Given the description of an element on the screen output the (x, y) to click on. 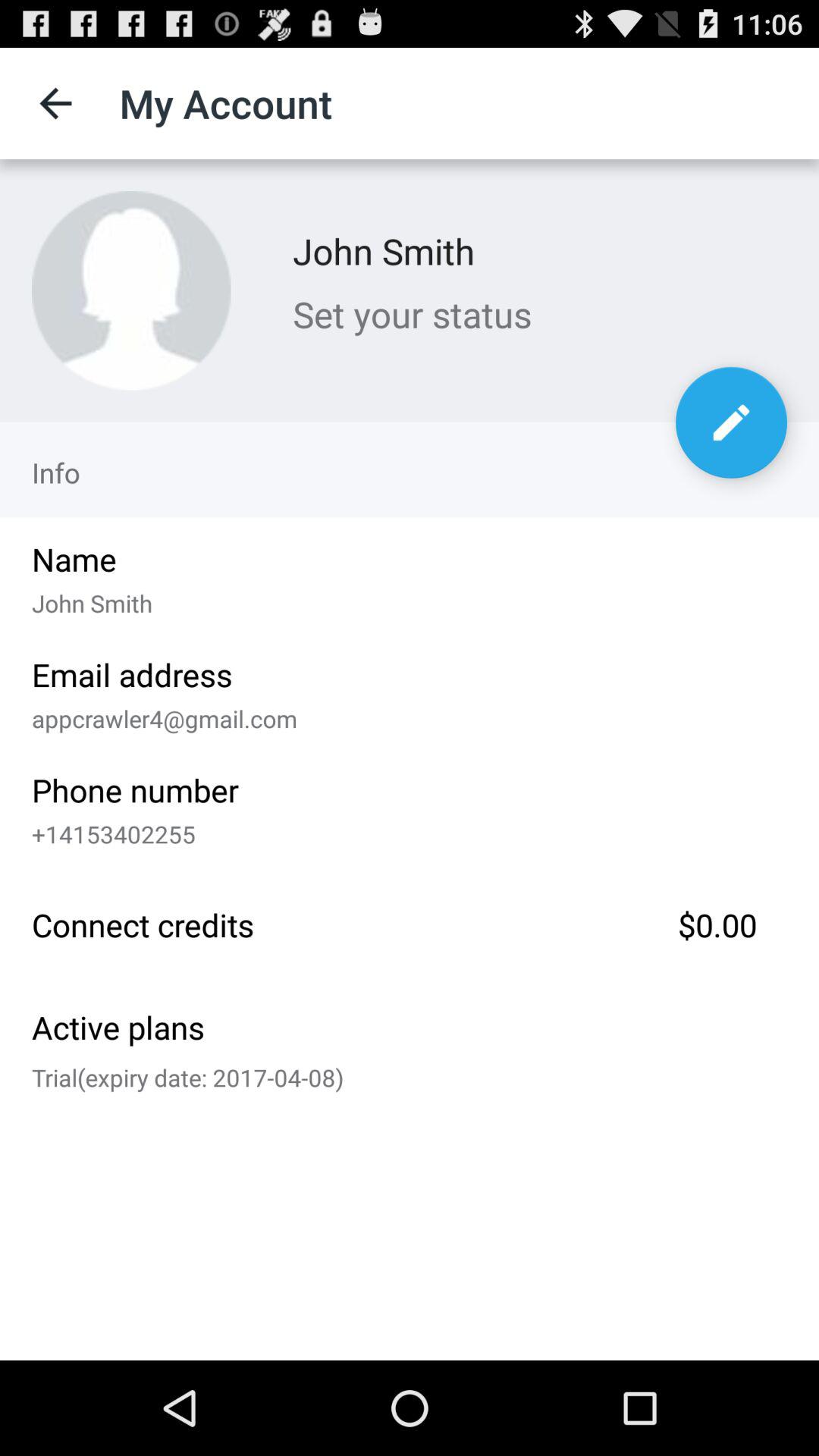
press the item to the left of john smith (130, 290)
